Given the description of an element on the screen output the (x, y) to click on. 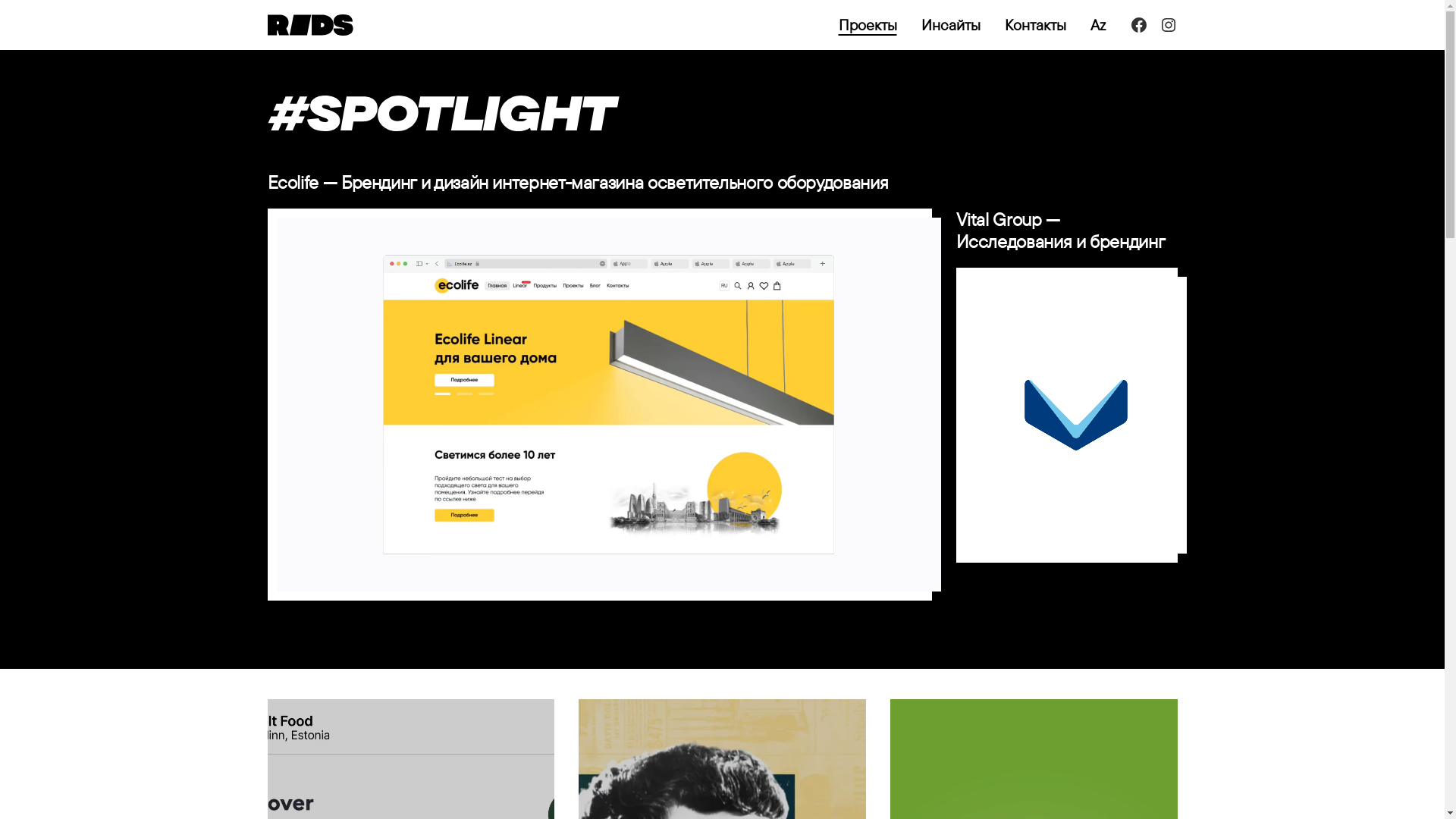
Az Element type: text (1097, 24)
Instagram Element type: text (1167, 24)
Facebook Element type: text (1138, 24)
